Given the description of an element on the screen output the (x, y) to click on. 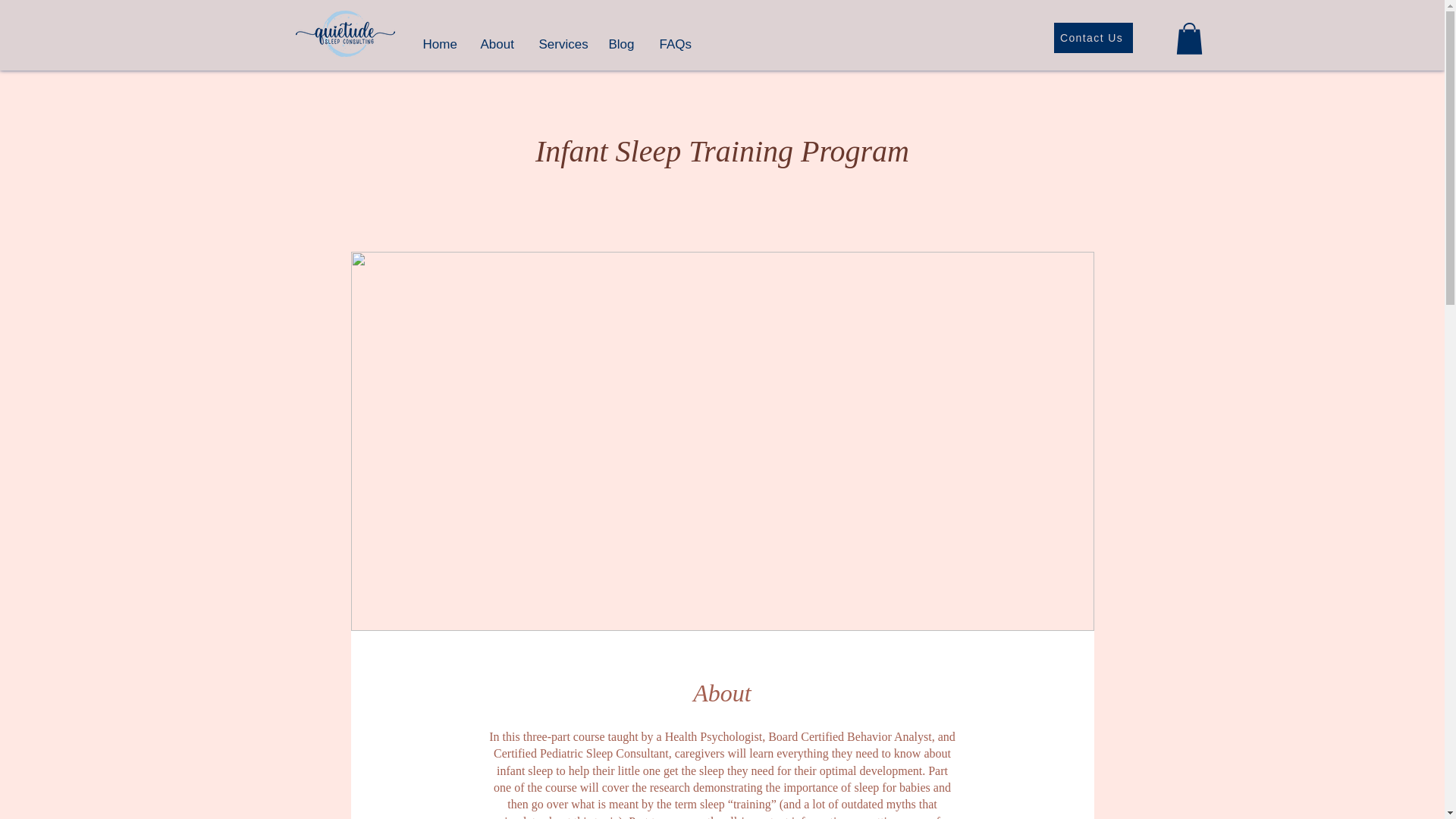
Contact Us (1093, 37)
Services (559, 37)
Home (438, 37)
FAQs (673, 37)
Blog (619, 37)
About (496, 37)
